Given the description of an element on the screen output the (x, y) to click on. 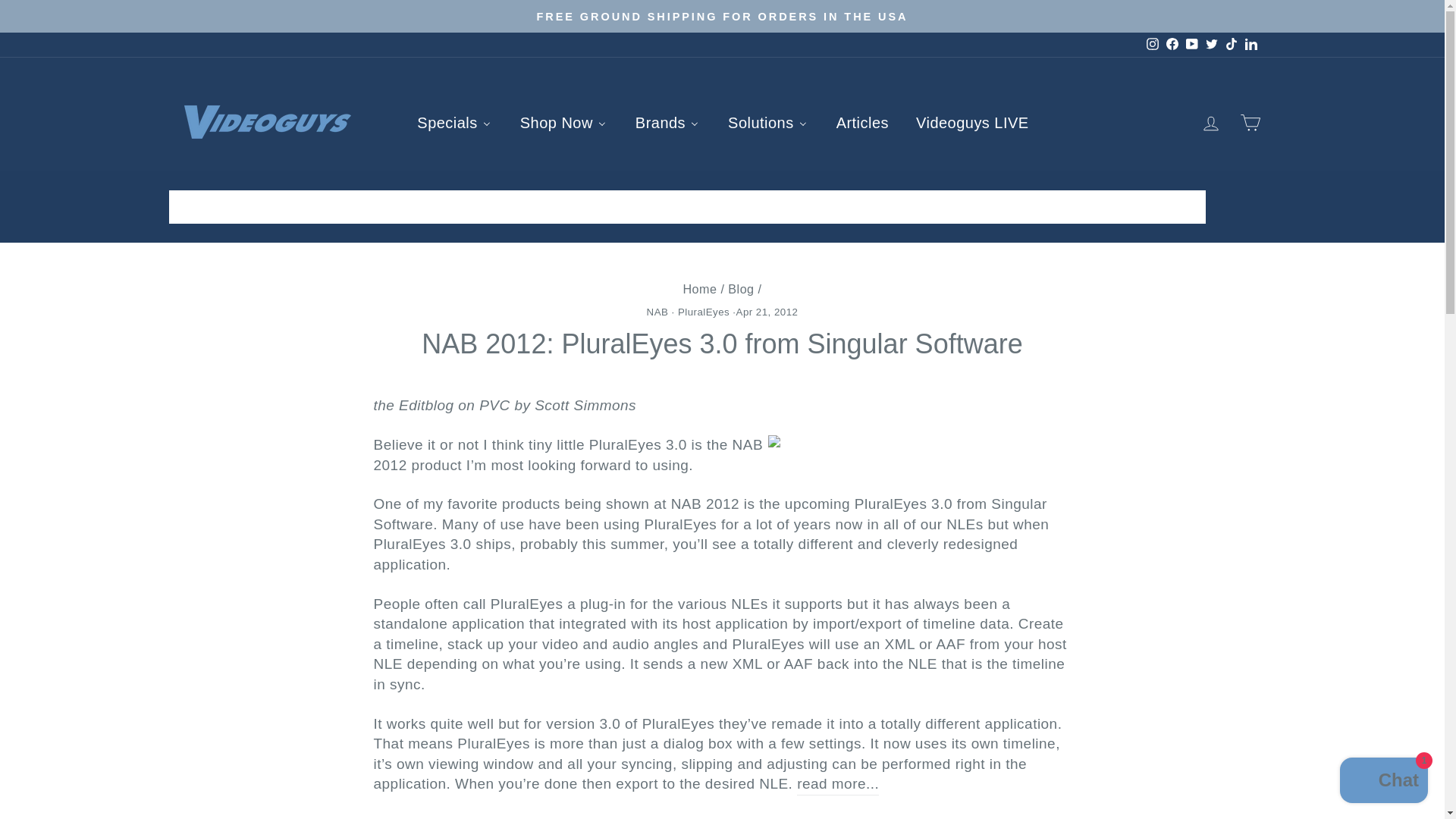
Videoguys on Facebook (1170, 44)
Videoguys on Twitter (1211, 44)
Videoguys on Instagram (1151, 44)
Videoguys on YouTube (1190, 44)
Videoguys on TikTok (1230, 44)
Videoguys on LinkedIn (1250, 44)
